Given the description of an element on the screen output the (x, y) to click on. 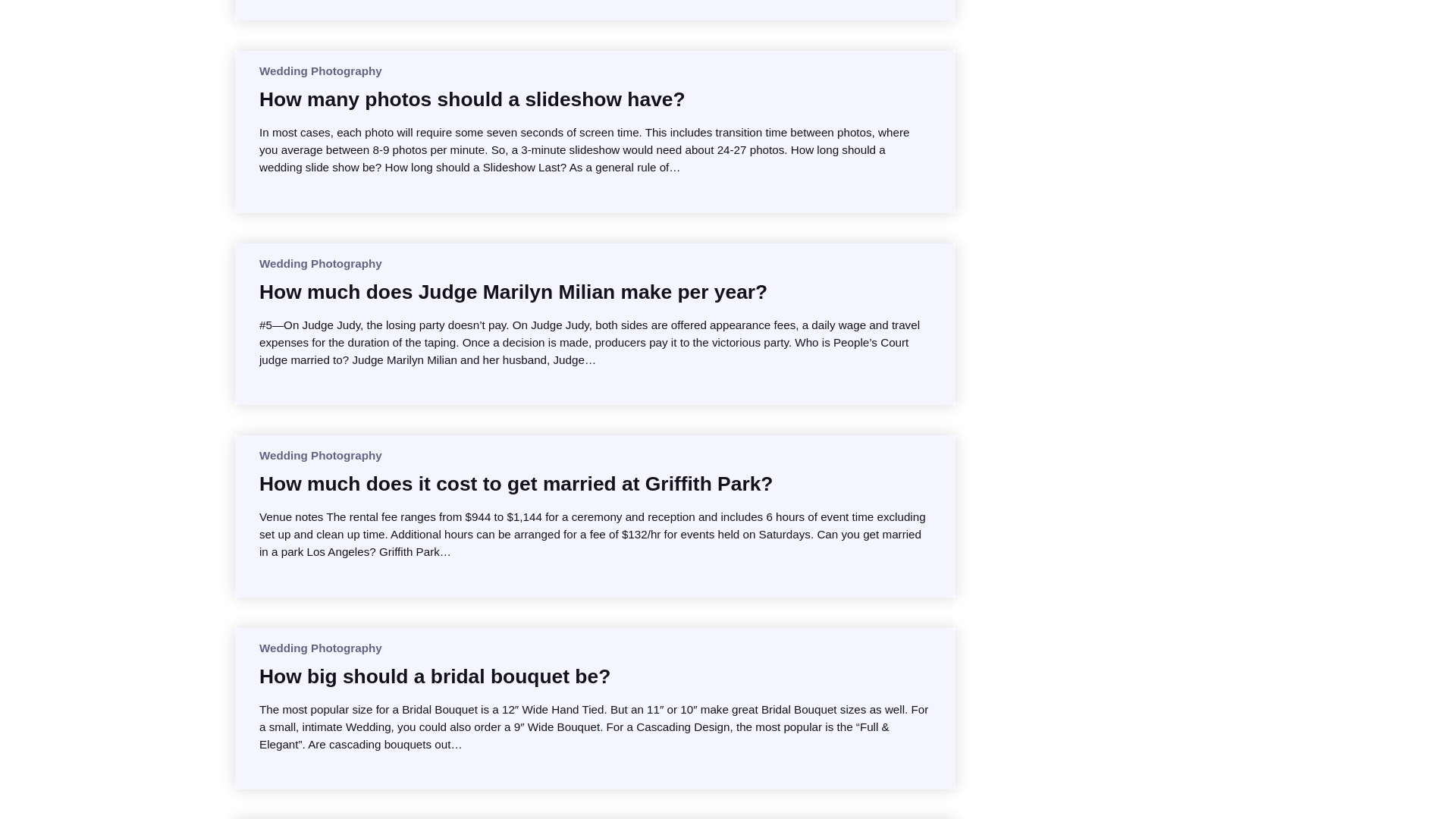
How much does Judge Marilyn Milian make per year? (513, 291)
How much does it cost to get married at Griffith Park? (516, 483)
Wedding Photography (320, 647)
How many photos should a slideshow have? (472, 99)
Wedding Photography (320, 263)
Wedding Photography (320, 454)
Wedding Photography (320, 70)
